Given the description of an element on the screen output the (x, y) to click on. 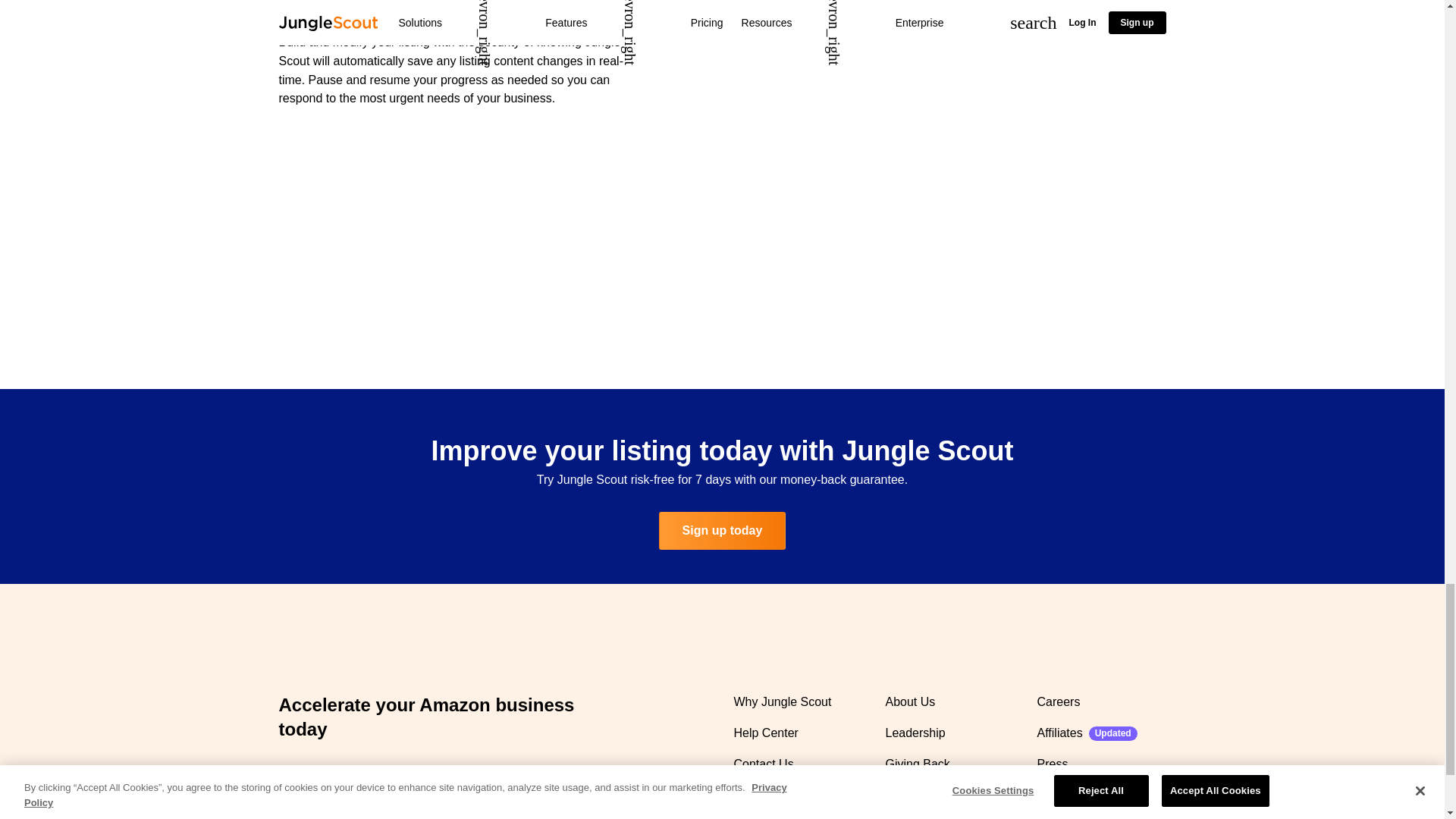
Sign up today (722, 530)
